Given the description of an element on the screen output the (x, y) to click on. 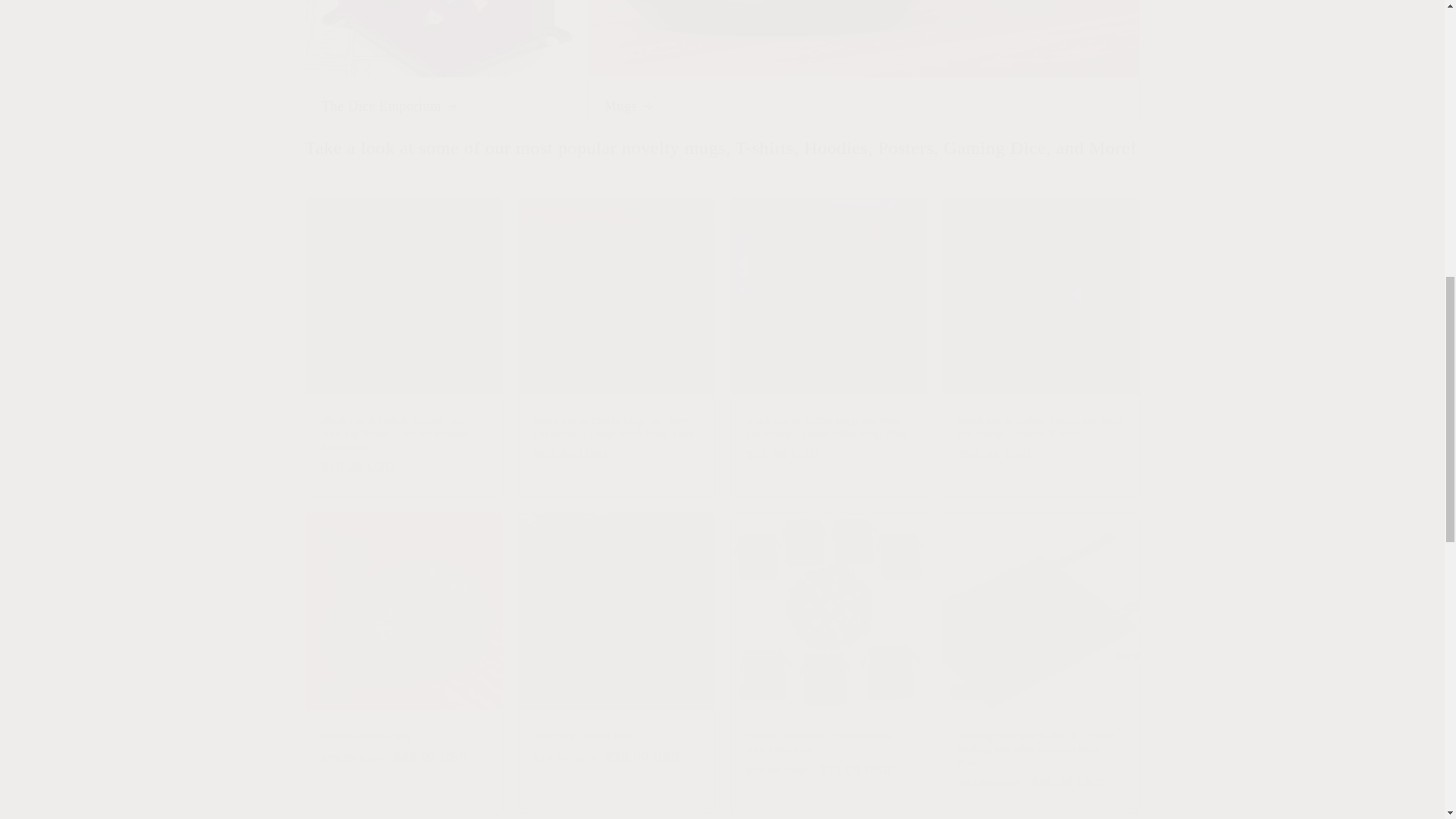
The Dice Emporium (439, 106)
Mugs (864, 106)
The Dice Emporium (438, 68)
Mugs (864, 68)
